Given the description of an element on the screen output the (x, y) to click on. 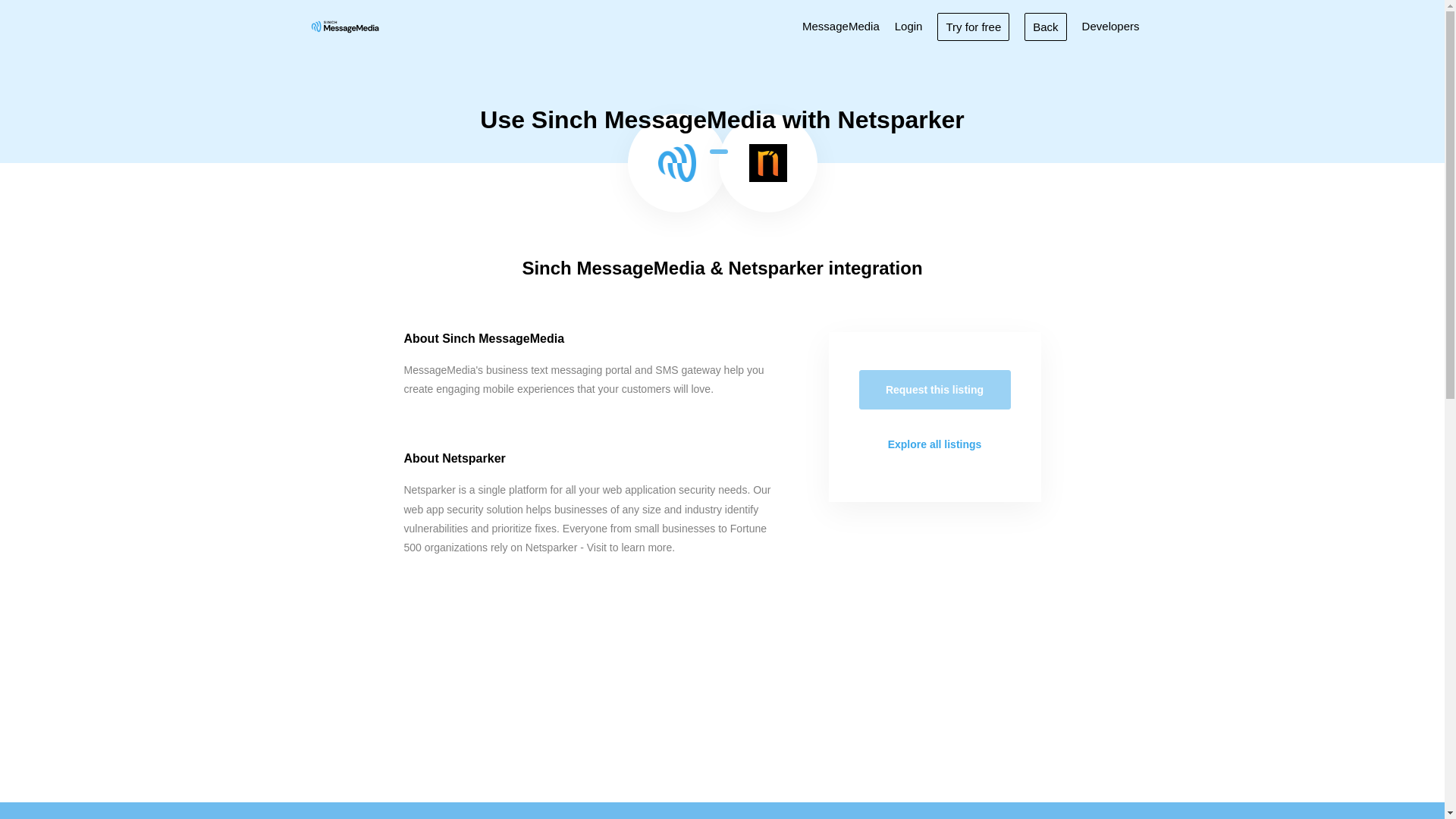
Netsparker (768, 162)
Sinch MessageMedia (344, 26)
Back (1045, 26)
Try for free (973, 26)
MessageMedia (840, 25)
Request this listing (934, 389)
Sinch MessageMedia (676, 162)
Explore all listings (934, 444)
Login (909, 25)
Developers (1110, 25)
